Given the description of an element on the screen output the (x, y) to click on. 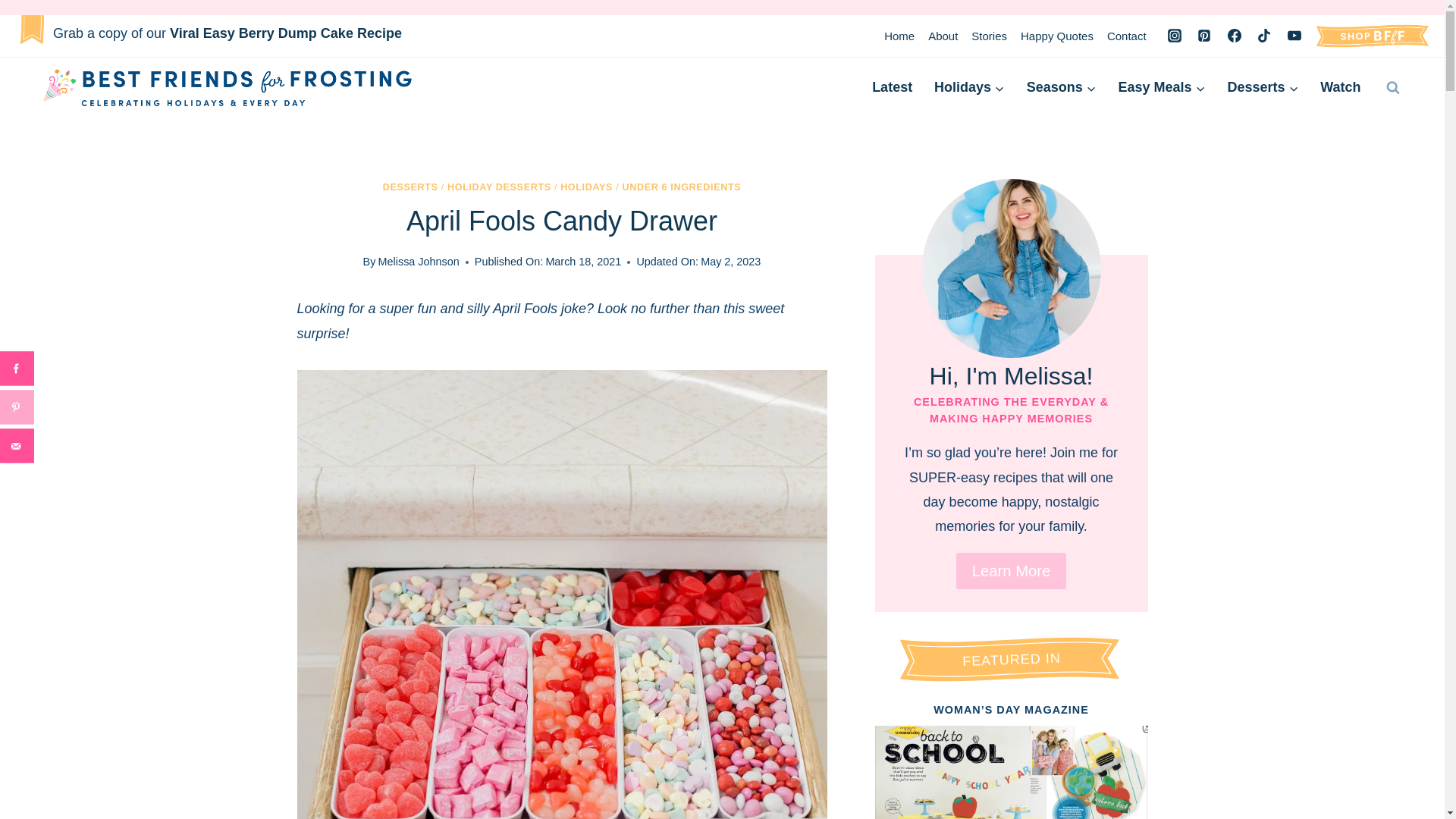
Send over email (16, 446)
Save to Pinterest (16, 406)
Seasons (1060, 87)
Contact (1126, 35)
Latest (892, 87)
Happy Quotes (1056, 35)
Home (899, 35)
Share on Facebook (16, 368)
Holidays (969, 87)
Viral Easy Berry Dump Cake Recipe (285, 32)
About (942, 35)
Stories (988, 35)
